Given the description of an element on the screen output the (x, y) to click on. 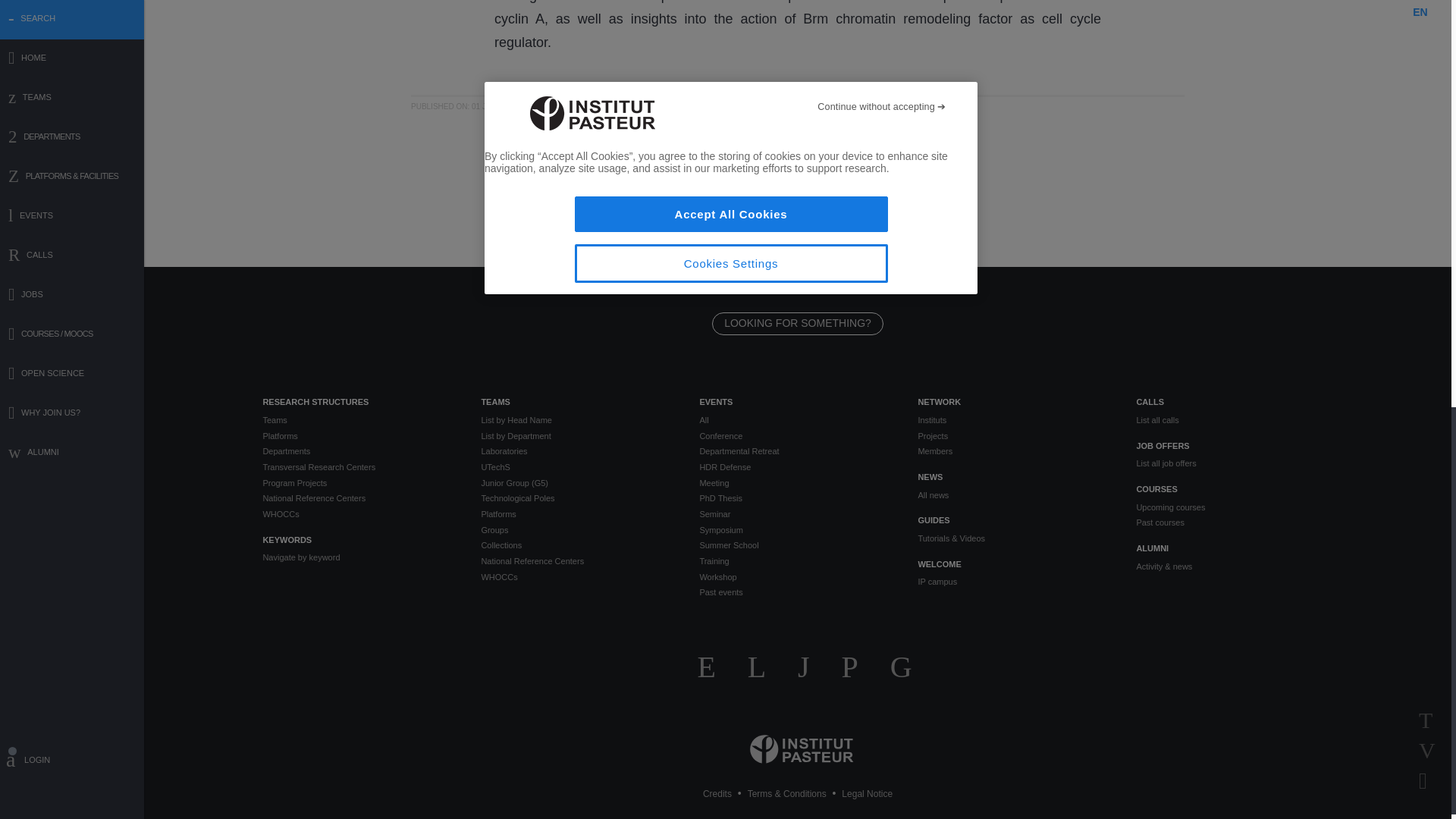
Program Projects (360, 482)
Departments (360, 451)
Transversal Research Centers (360, 467)
Teams (360, 420)
Platforms (360, 436)
